Given the description of an element on the screen output the (x, y) to click on. 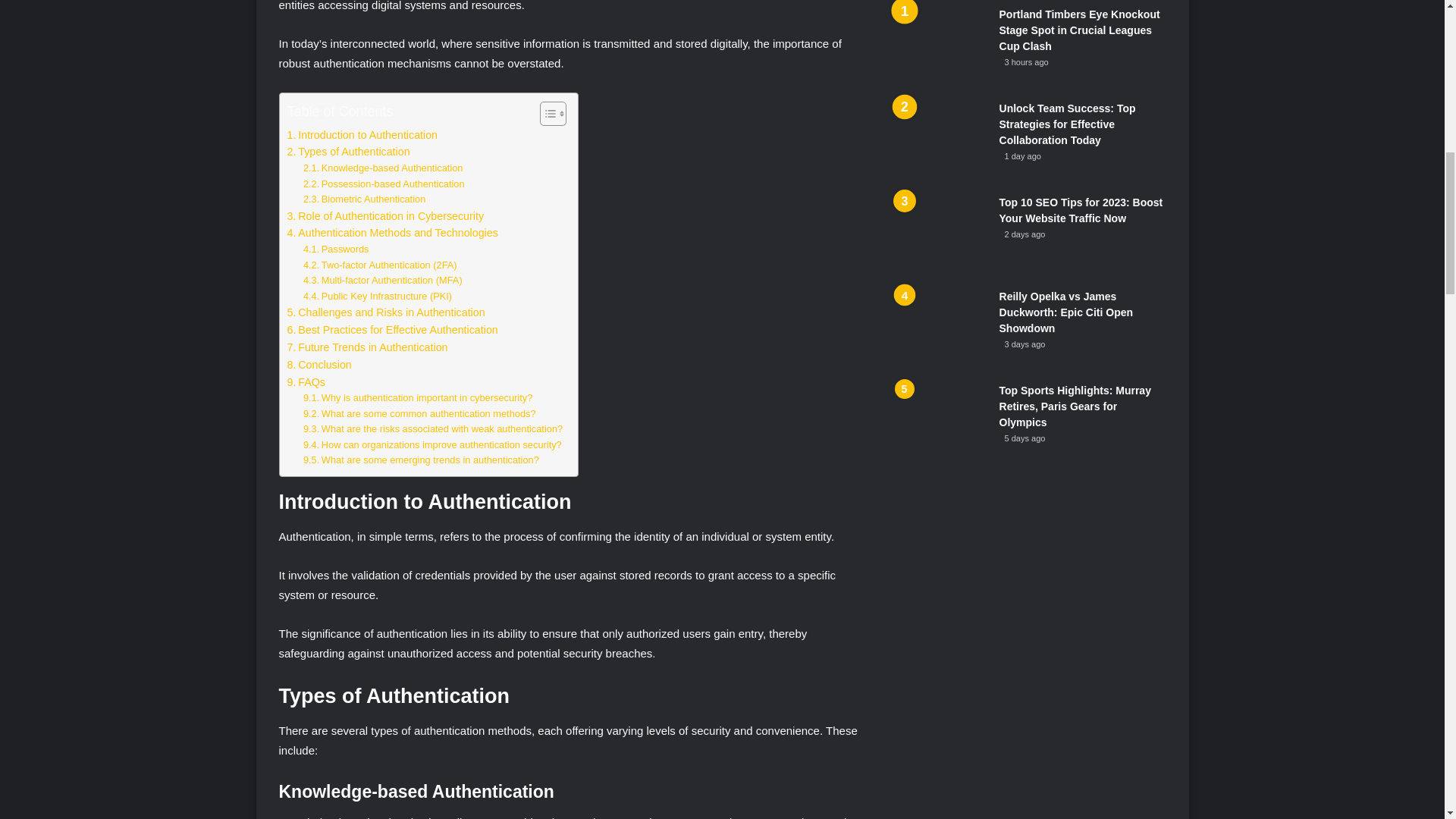
Role of Authentication in Cybersecurity (384, 216)
Passwords (335, 249)
Types of Authentication (347, 151)
Types of Authentication (347, 151)
Biometric Authentication (363, 199)
Role of Authentication in Cybersecurity (384, 216)
Knowledge-based Authentication (382, 168)
Biometric Authentication (363, 199)
Passwords (335, 249)
Knowledge-based Authentication (382, 168)
Authentication Methods and Technologies (391, 232)
Authentication Methods and Technologies (391, 232)
Possession-based Authentication (383, 184)
Conclusion (318, 364)
Introduction to Authentication (362, 135)
